Given the description of an element on the screen output the (x, y) to click on. 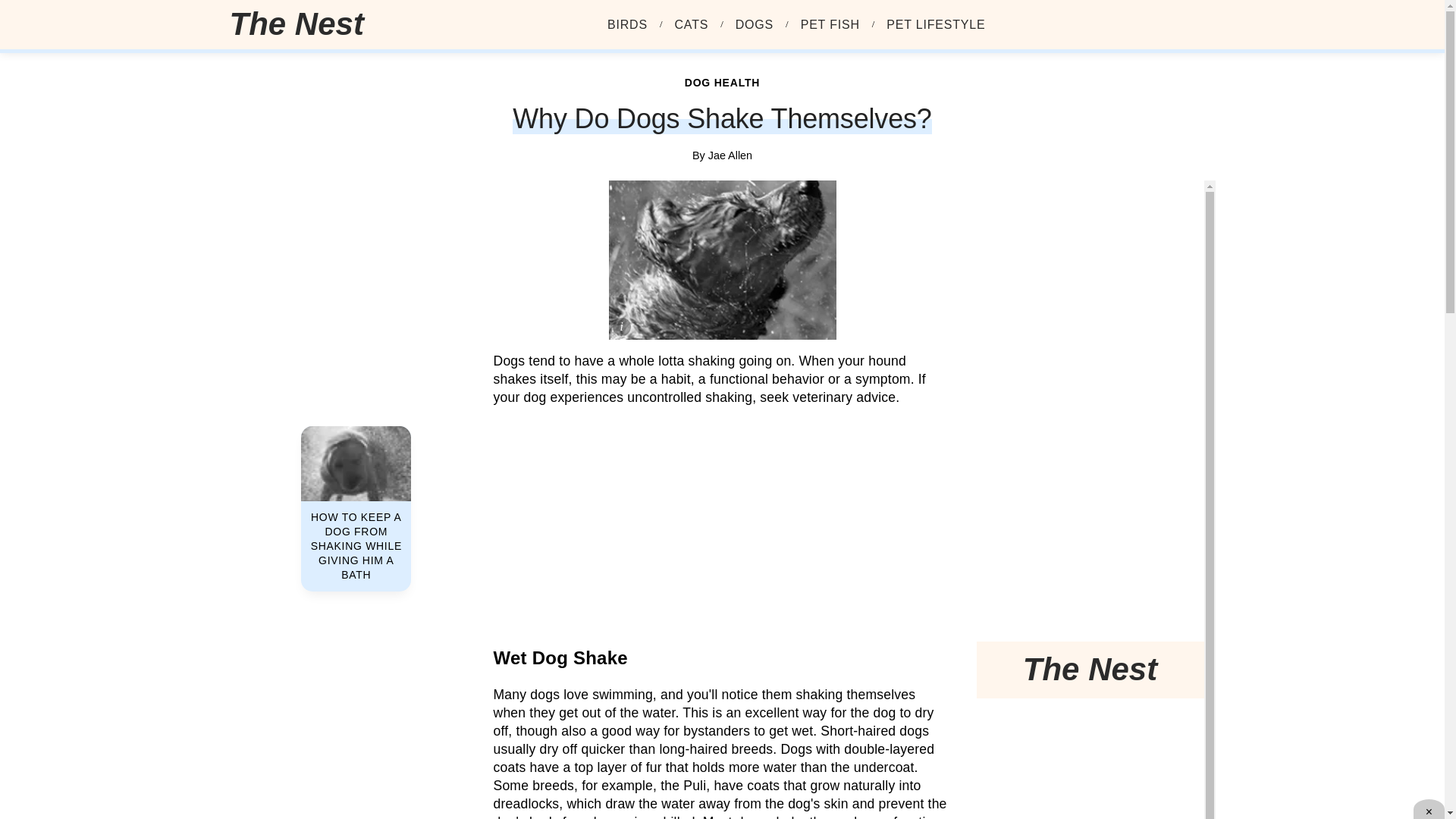
The Nest (301, 23)
The Nest (295, 23)
BIRDS (627, 24)
PET FISH (830, 24)
PET LIFESTYLE (935, 24)
DOG HEALTH (722, 82)
DOGS (754, 24)
CATS (692, 24)
